Given the description of an element on the screen output the (x, y) to click on. 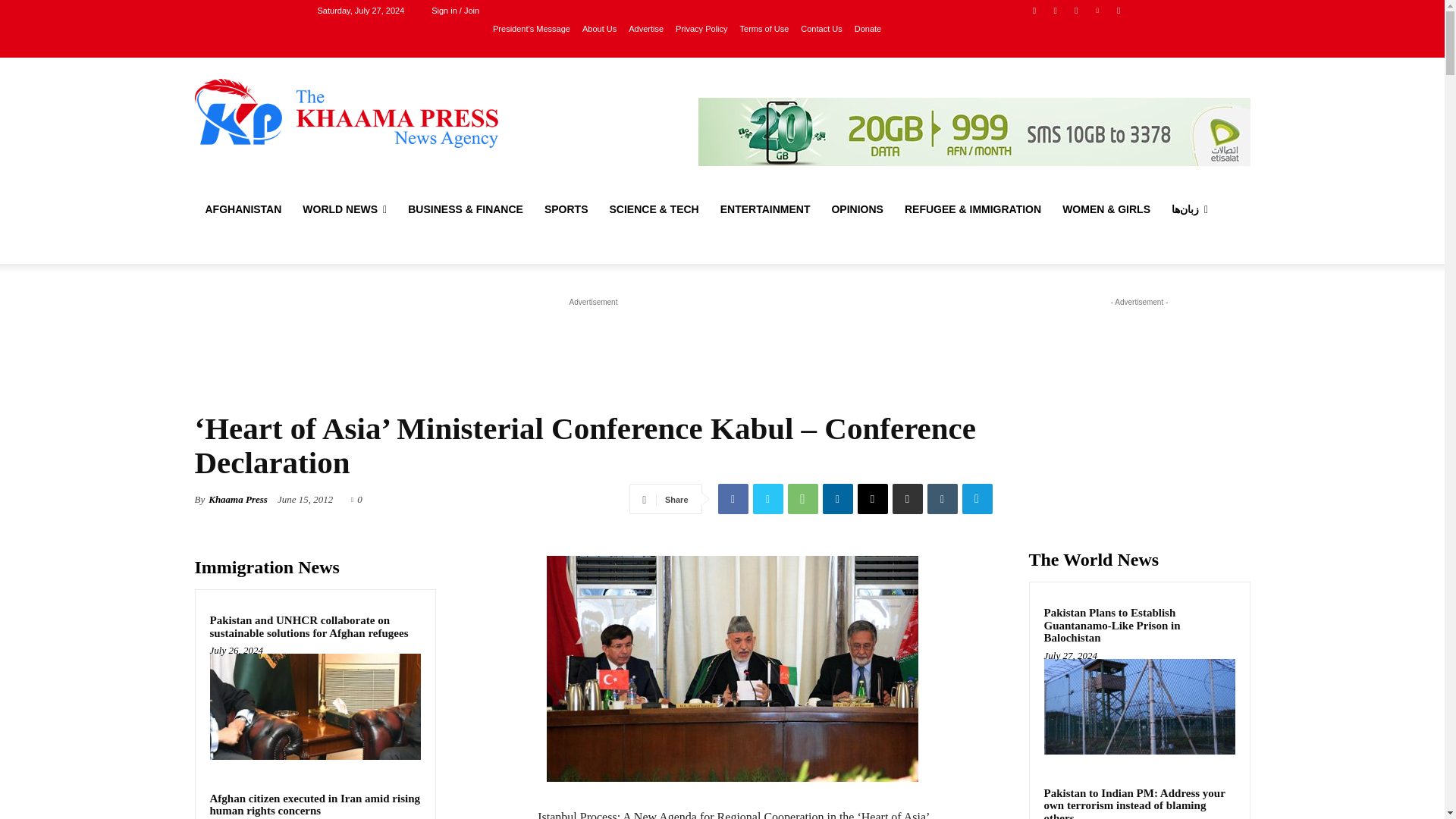
Terms of Use (764, 28)
Instagram (1055, 9)
About Us (598, 28)
Advertise (645, 28)
Twitter (1075, 9)
Facebook (1034, 9)
Privacy Policy (700, 28)
Contact Us (820, 28)
Donate (867, 28)
Vimeo (1097, 9)
Advertisement (592, 344)
Youtube (1117, 9)
